Given the description of an element on the screen output the (x, y) to click on. 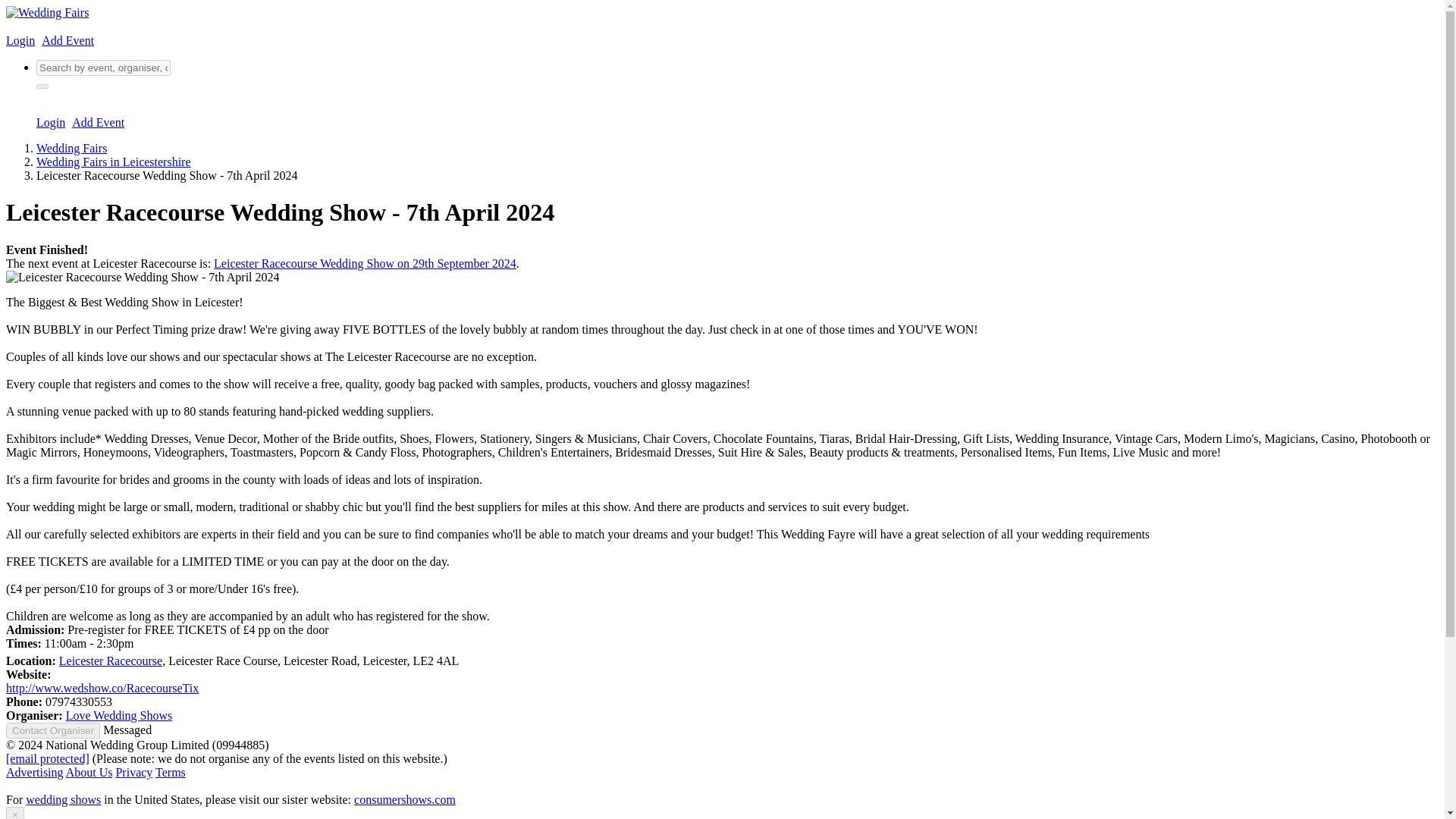
Terms (170, 771)
Add Event (97, 122)
Awaiting Response (127, 729)
Leicester Racecourse Wedding Show on 29th September 2024 (365, 263)
Advertising (34, 771)
wedding shows (63, 799)
Login (50, 122)
Contact Organiser (52, 730)
Wedding Fairs (71, 147)
Wedding Fairs in Leicestershire (113, 161)
Leicester Racecourse (110, 660)
Login (19, 40)
About Us (89, 771)
Privacy (133, 771)
Consumer Shows (404, 799)
